Given the description of an element on the screen output the (x, y) to click on. 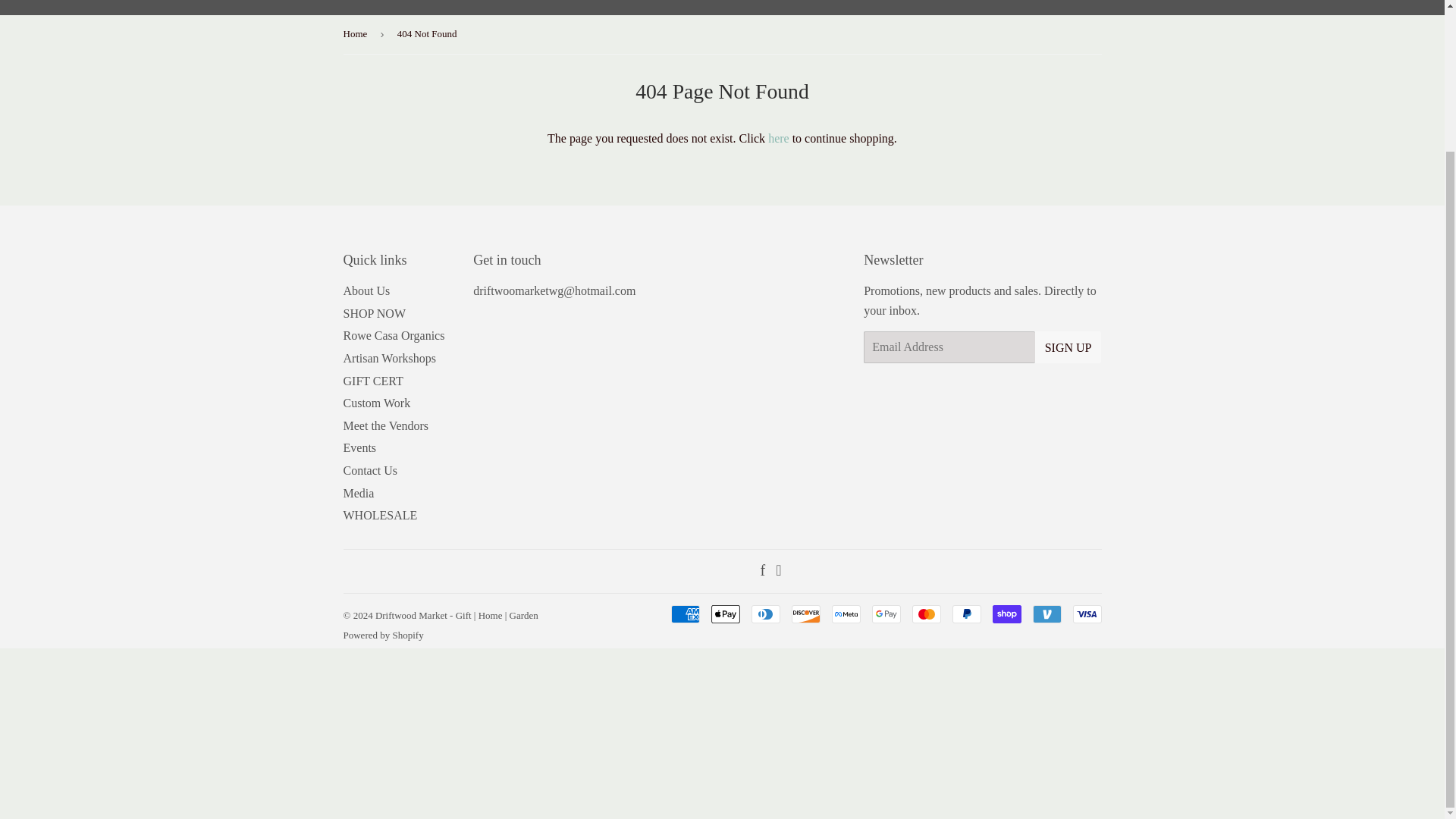
Visa (1085, 614)
Mastercard (925, 614)
Meta Pay (845, 614)
Discover (806, 614)
American Express (683, 614)
Google Pay (886, 614)
Venmo (1046, 614)
Diners Club (764, 614)
Apple Pay (725, 614)
Shop Pay (1005, 614)
PayPal (966, 614)
